Given the description of an element on the screen output the (x, y) to click on. 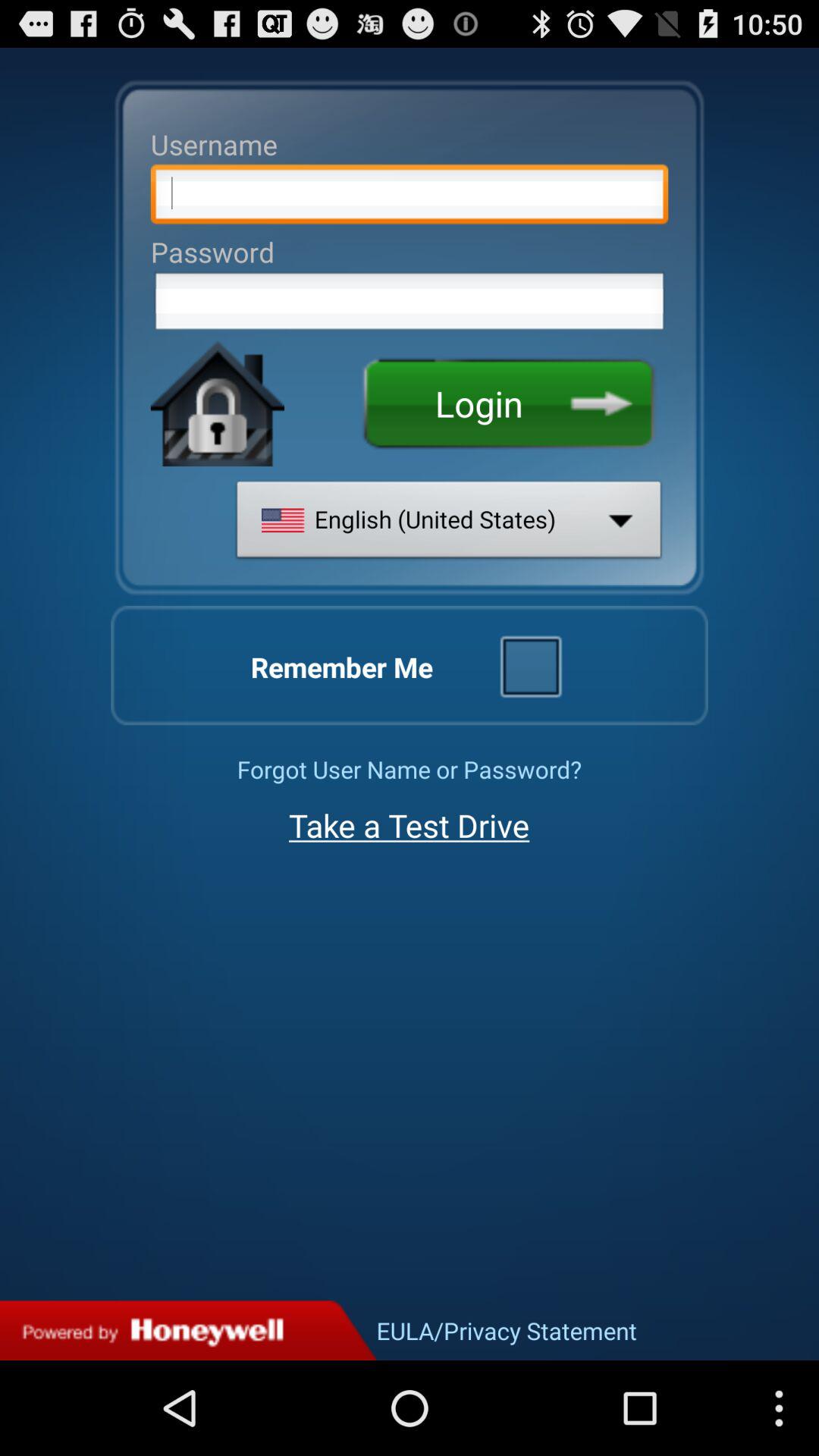
remember me (530, 665)
